Given the description of an element on the screen output the (x, y) to click on. 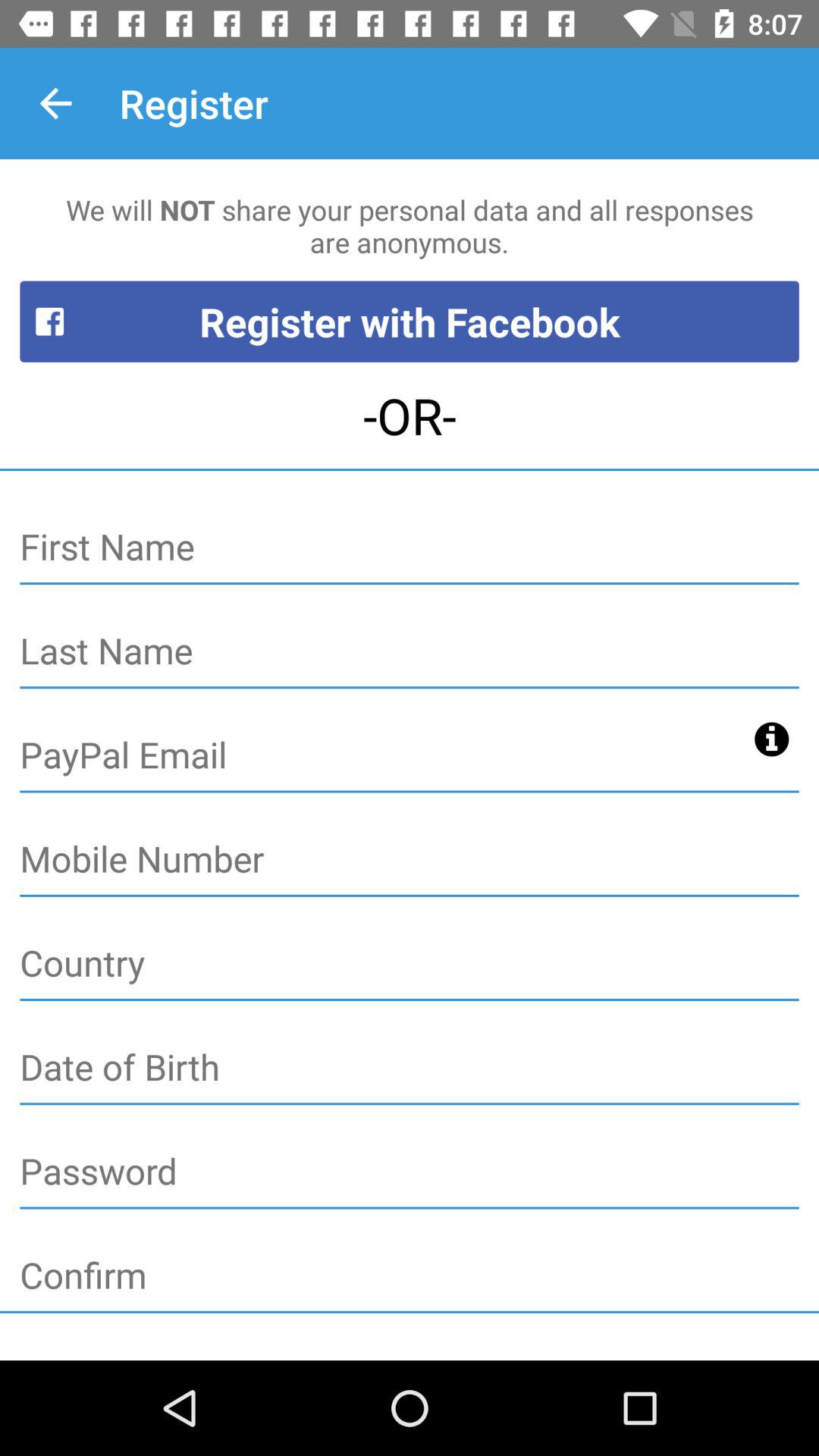
mobile number (409, 860)
